Given the description of an element on the screen output the (x, y) to click on. 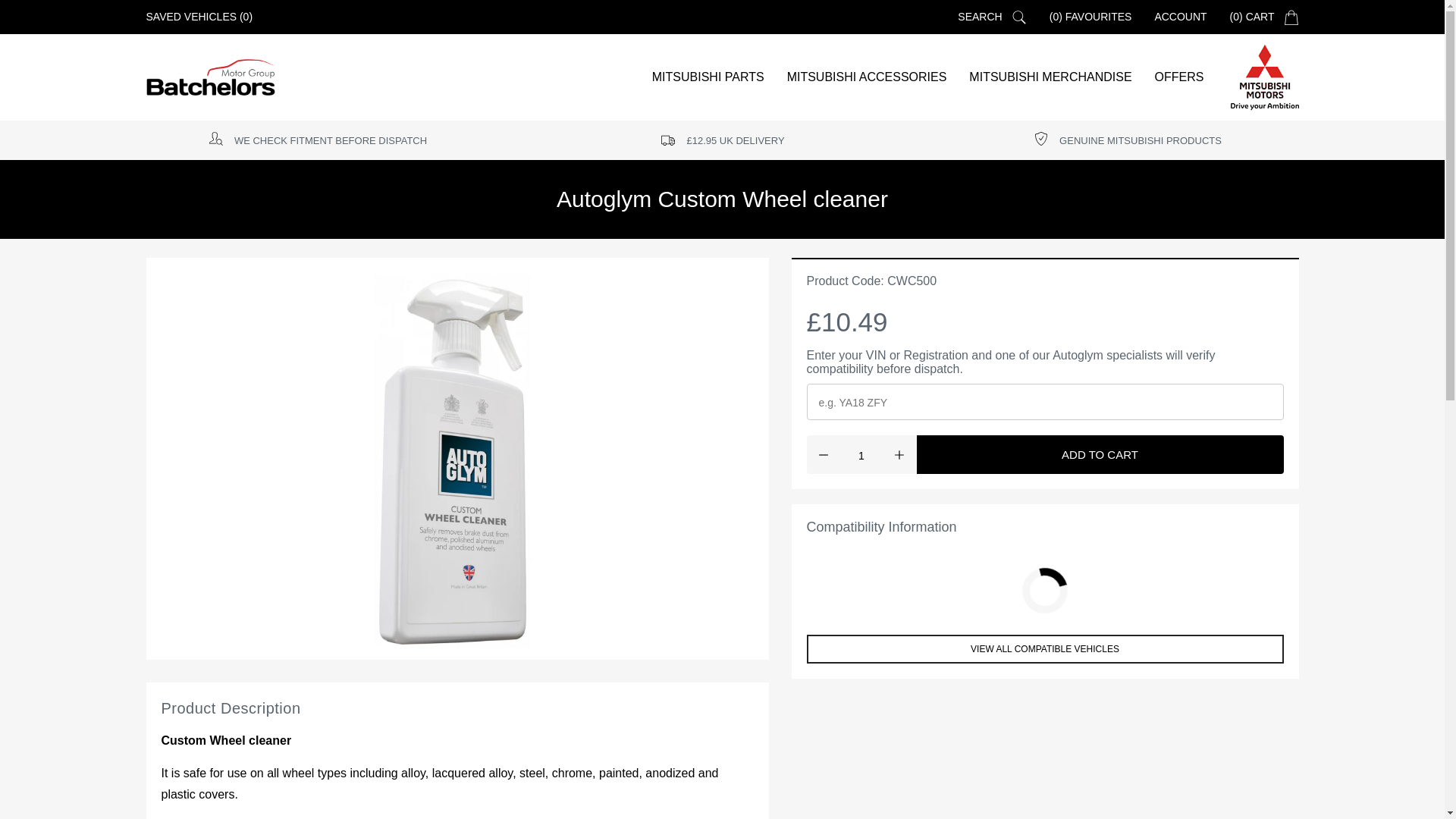
ACCOUNT (1180, 17)
SEARCH (979, 17)
MITSUBISHI PARTS (708, 77)
Batchelors Mitsubishi (210, 77)
1 (861, 454)
Batchelors Mitsubishi (1264, 76)
MITSUBISHI ACCESSORIES (867, 77)
